Given the description of an element on the screen output the (x, y) to click on. 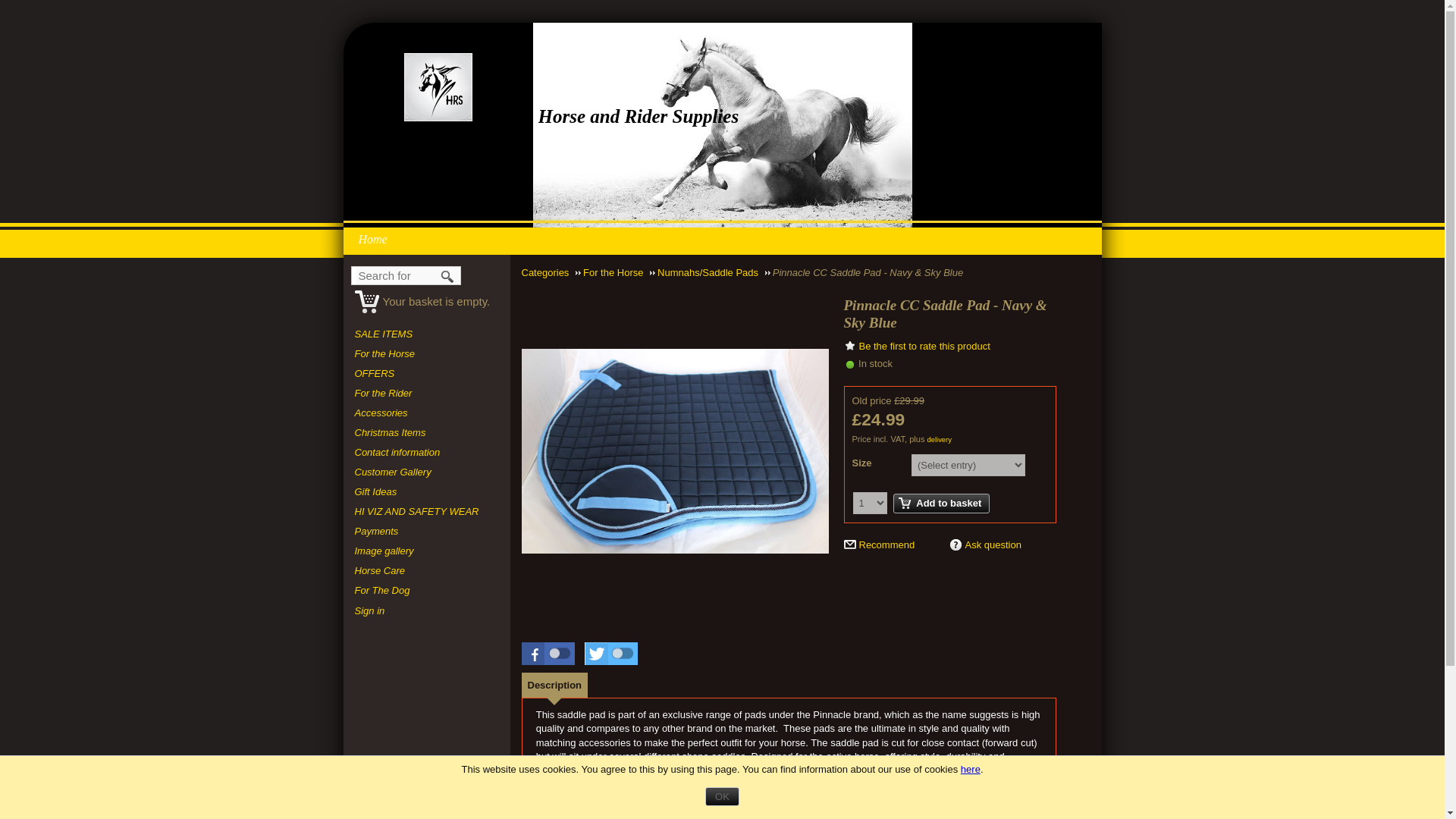
SALE ITEMS (427, 333)
Expand (674, 450)
Horse and Rider Supplies (638, 116)
For the Horse (427, 353)
Home (376, 238)
Horse and Rider Supplies (437, 87)
Horse and Rider Supplies (638, 116)
Start search (448, 276)
